Given the description of an element on the screen output the (x, y) to click on. 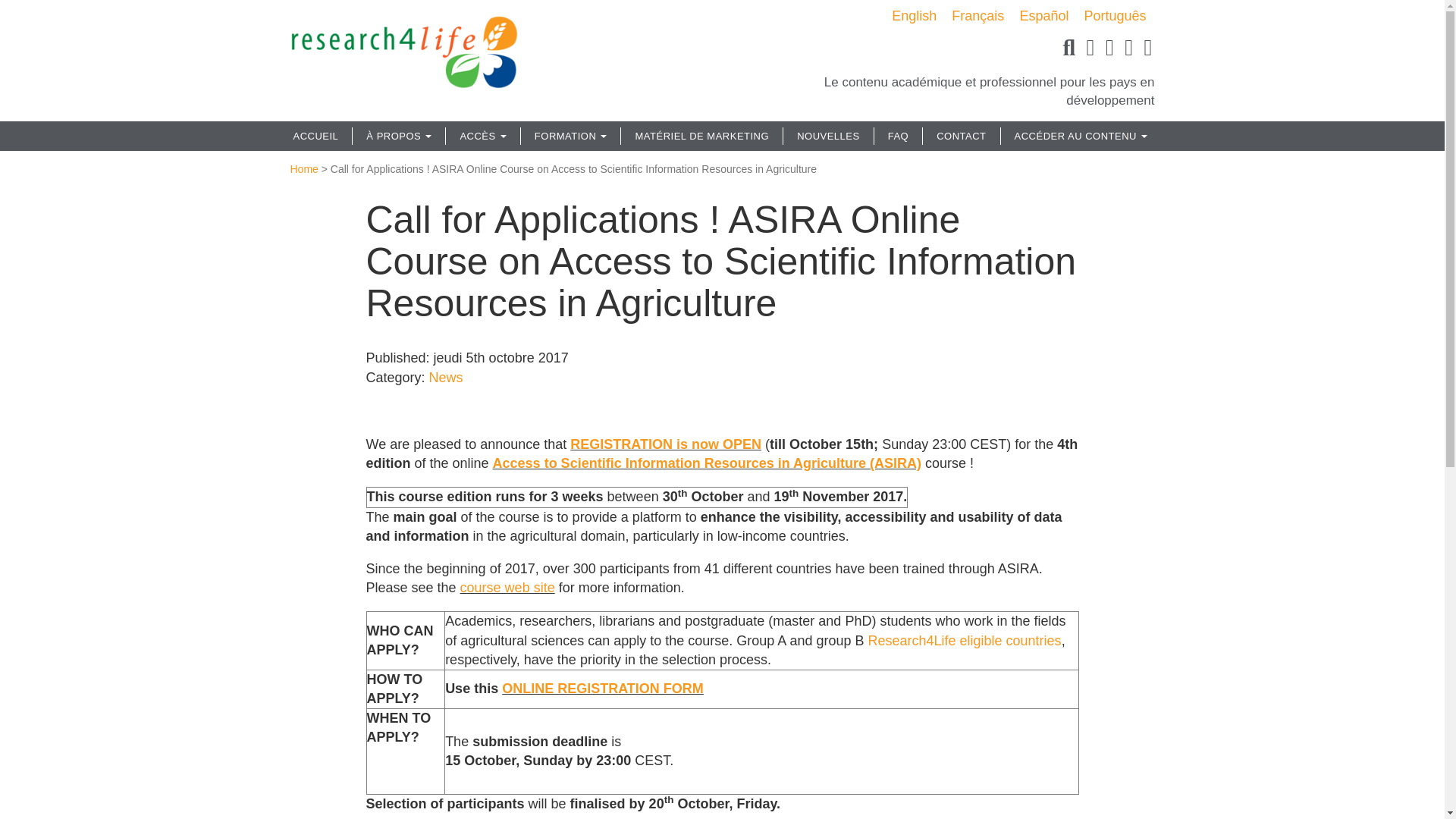
CONTACT (960, 135)
NOUVELLES (828, 135)
Research4Life (402, 45)
Formation (570, 135)
English (913, 15)
FORMATION (570, 135)
Accueil (314, 135)
ACCUEIL (314, 135)
FAQ (898, 135)
